Given the description of an element on the screen output the (x, y) to click on. 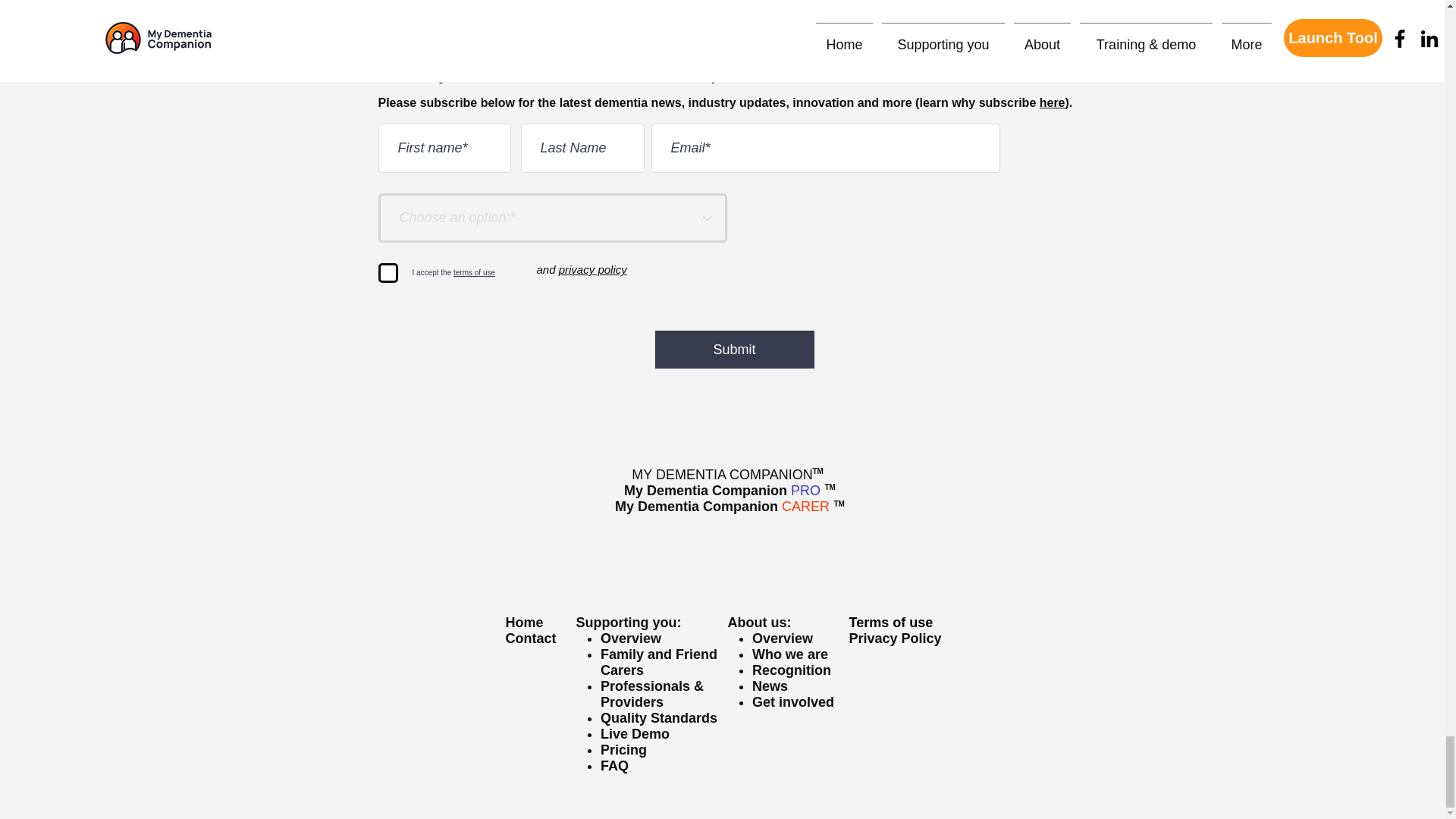
here (1052, 102)
terms of use (473, 272)
Submit (734, 349)
privacy policy (593, 269)
Home (524, 622)
